Given the description of an element on the screen output the (x, y) to click on. 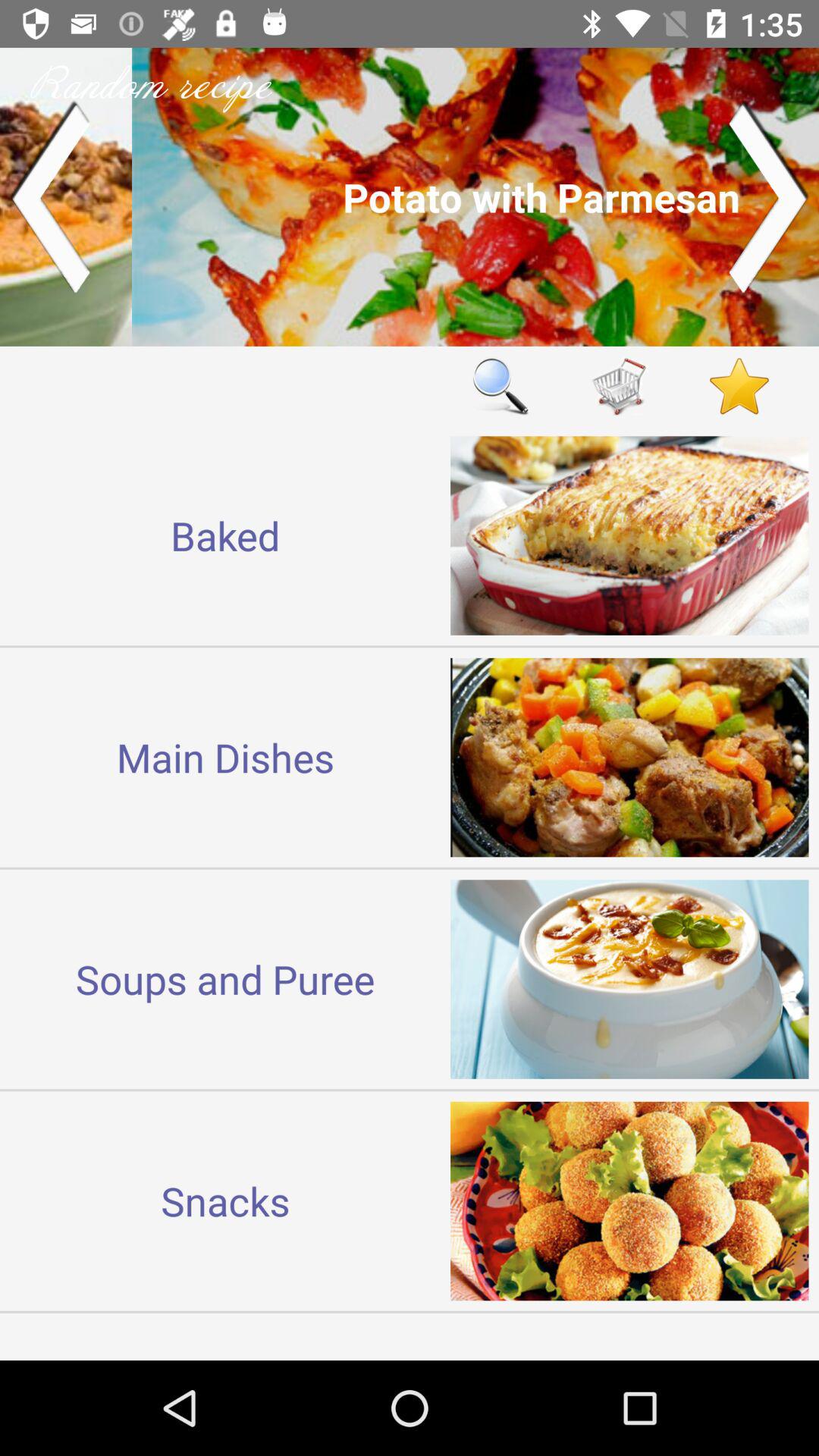
open favorites (739, 385)
